Given the description of an element on the screen output the (x, y) to click on. 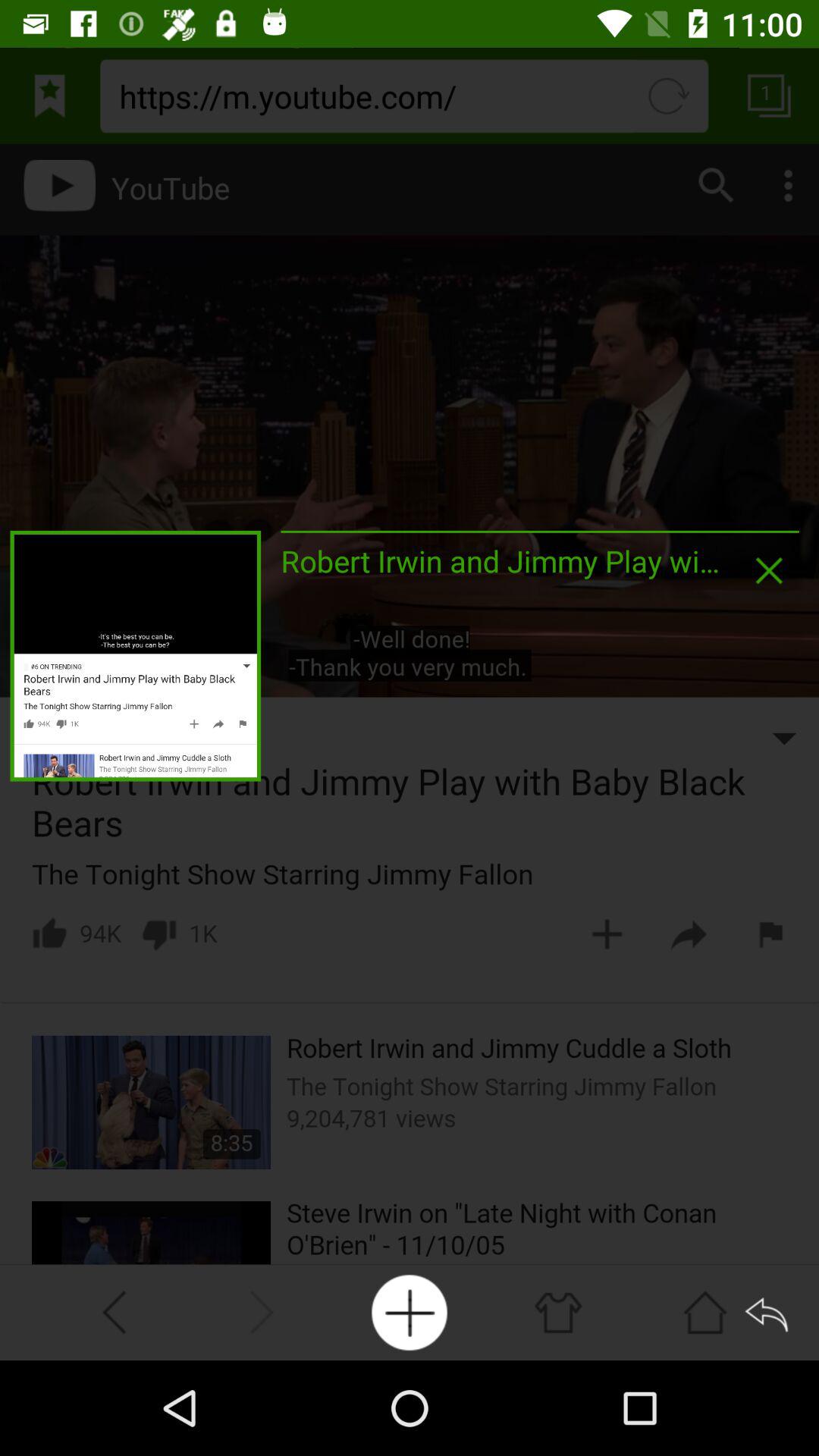
add to playlist (409, 1312)
